Given the description of an element on the screen output the (x, y) to click on. 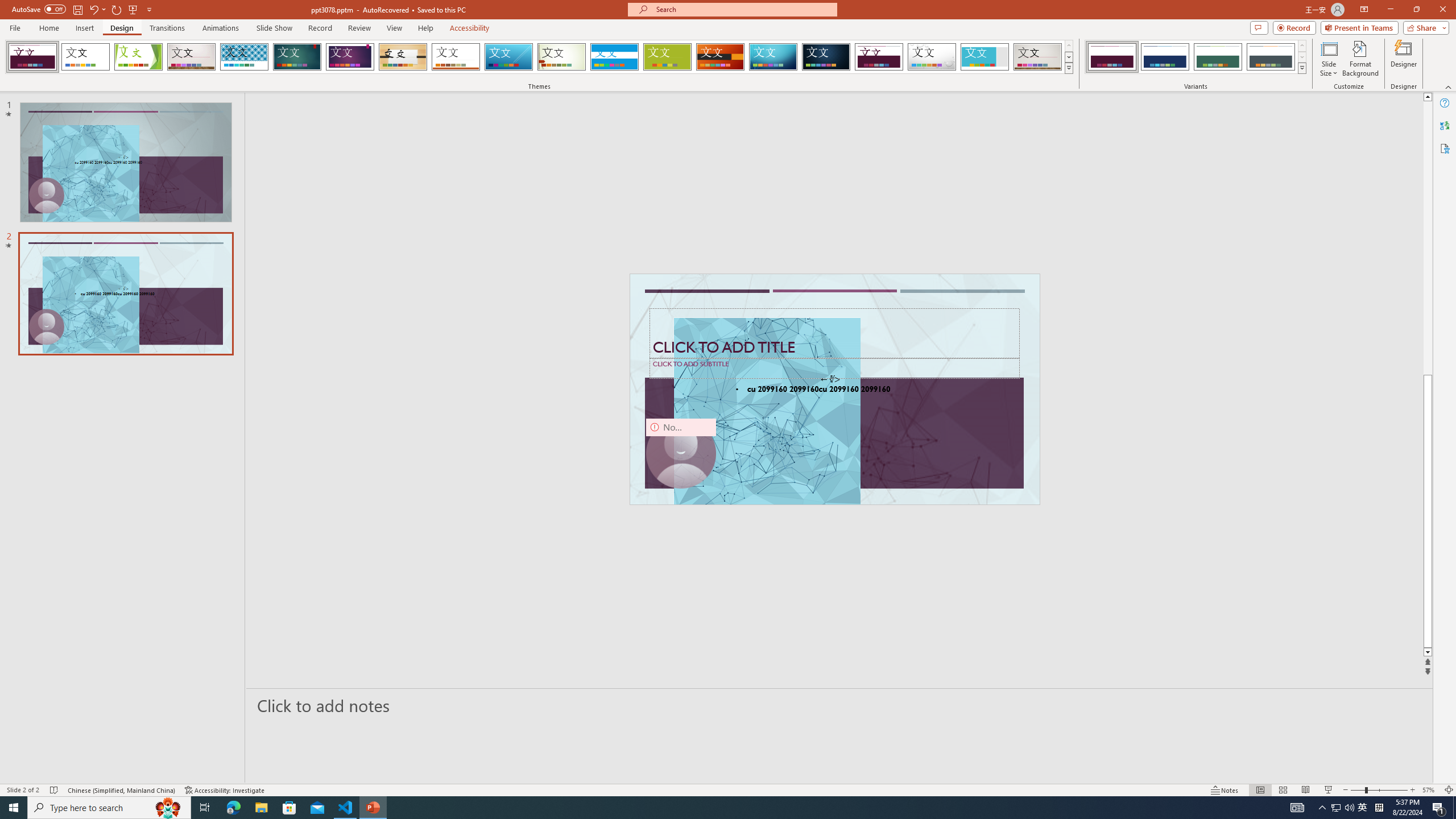
Facet (138, 56)
Slice (508, 56)
An abstract genetic concept (834, 389)
